Given the description of an element on the screen output the (x, y) to click on. 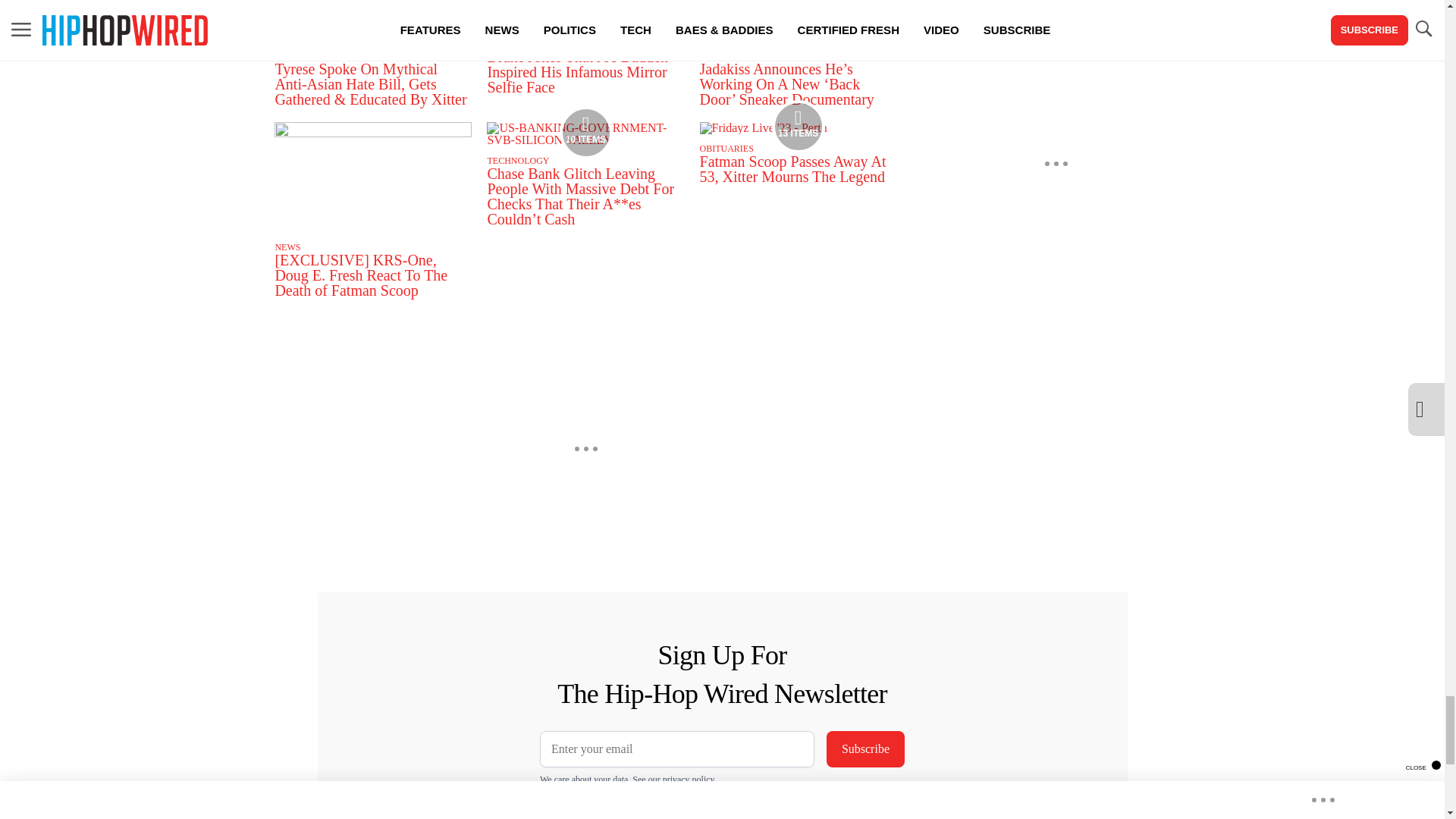
Media Playlist (585, 132)
NEWS (287, 246)
NEWS (712, 55)
Media Playlist (798, 126)
10 ITEMS (585, 139)
NEWS (499, 43)
11 ITEMS (373, 34)
CURRENT EVENTS (314, 55)
Media Playlist (372, 27)
